Given the description of an element on the screen output the (x, y) to click on. 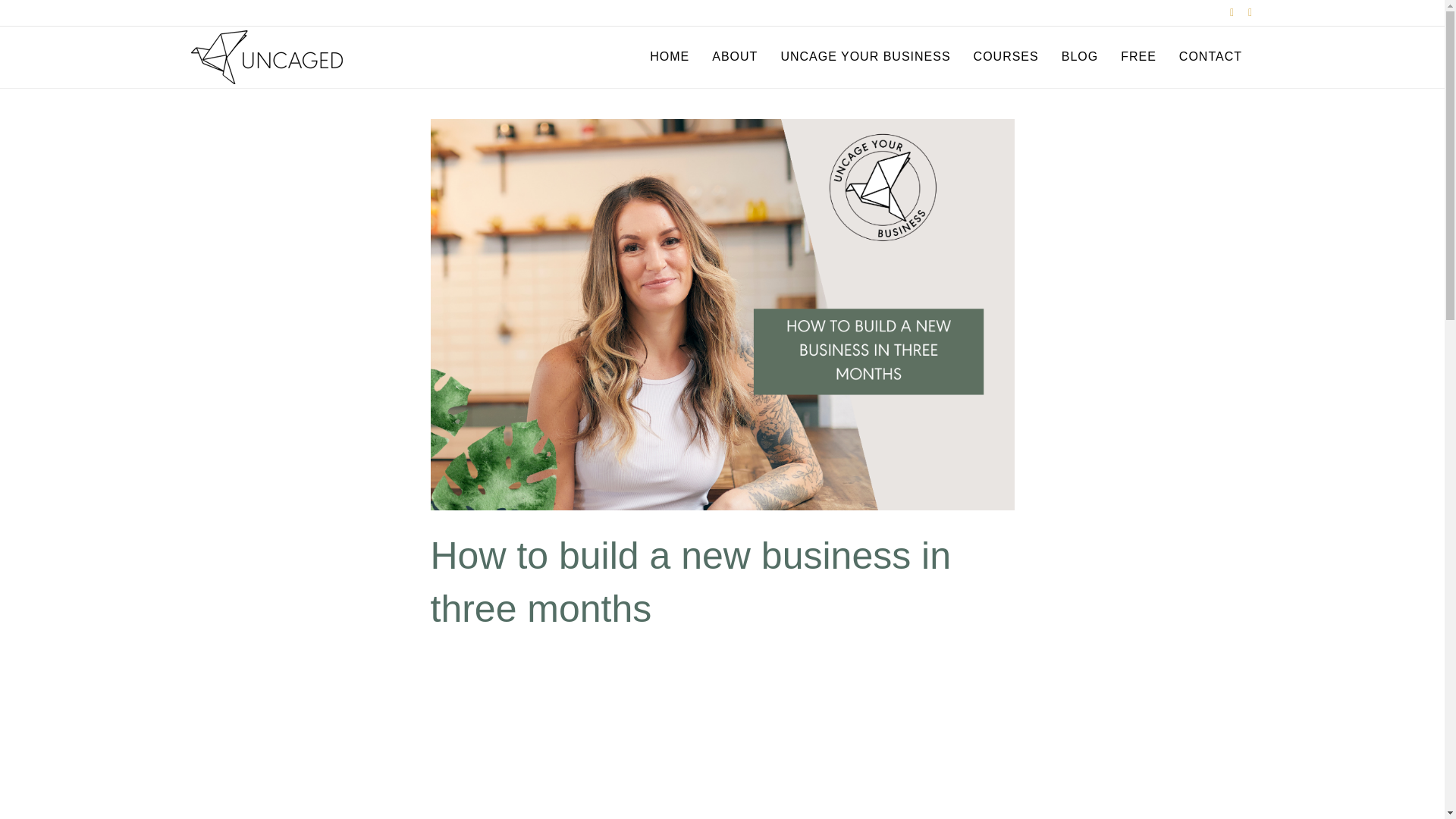
COURSES (1005, 56)
BLOG (1079, 56)
Instagram (1242, 11)
FREE (1138, 56)
HOME (669, 56)
UNCAGE YOUR BUSINESS (864, 56)
CONTACT (359, 796)
TERMS AND CONDITIONS (444, 796)
MEDIA (316, 796)
CONTACT (1210, 56)
